Given the description of an element on the screen output the (x, y) to click on. 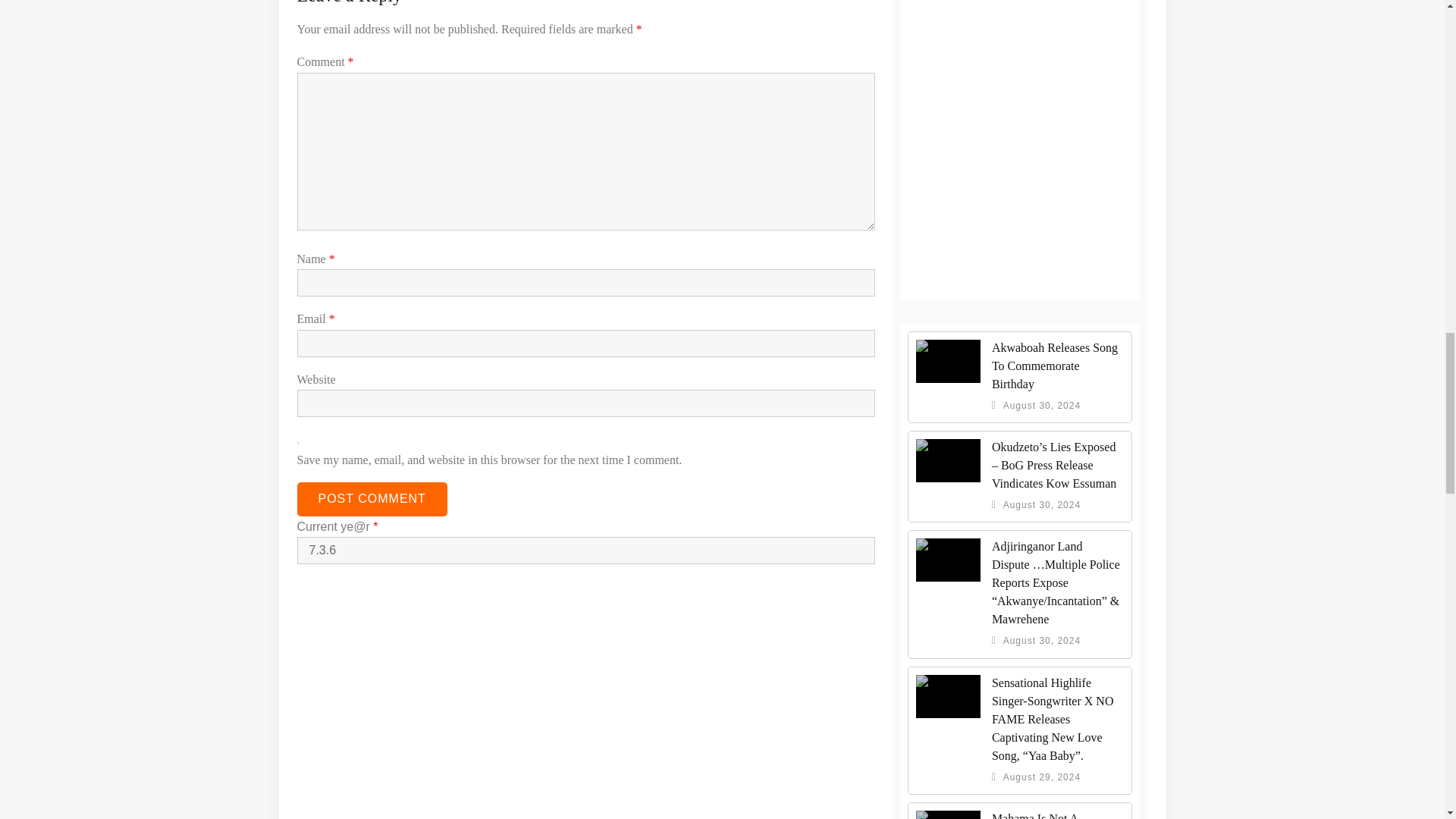
Post Comment (371, 499)
7.3.6 (586, 550)
